Given the description of an element on the screen output the (x, y) to click on. 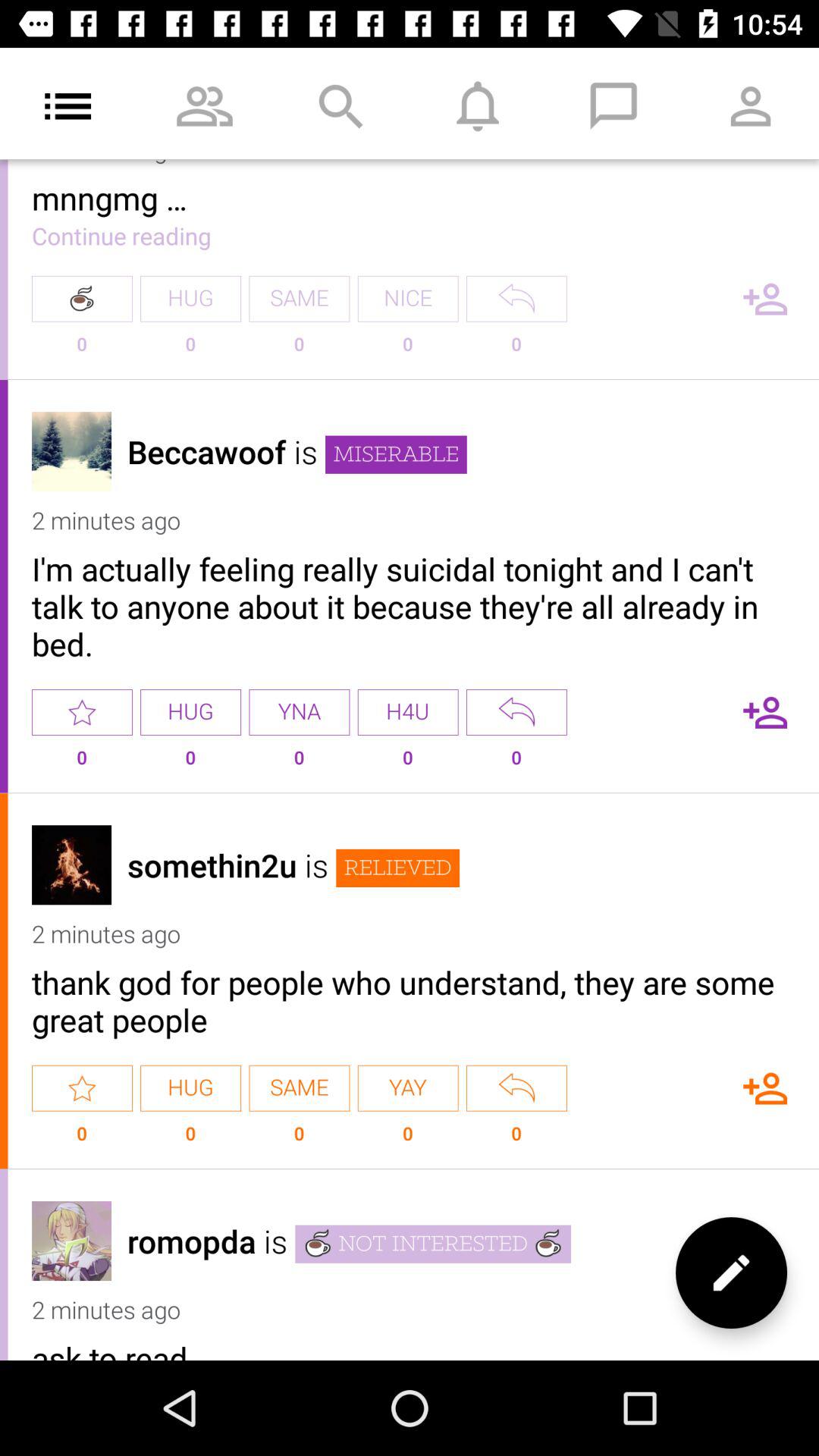
expression button (516, 1088)
